Given the description of an element on the screen output the (x, y) to click on. 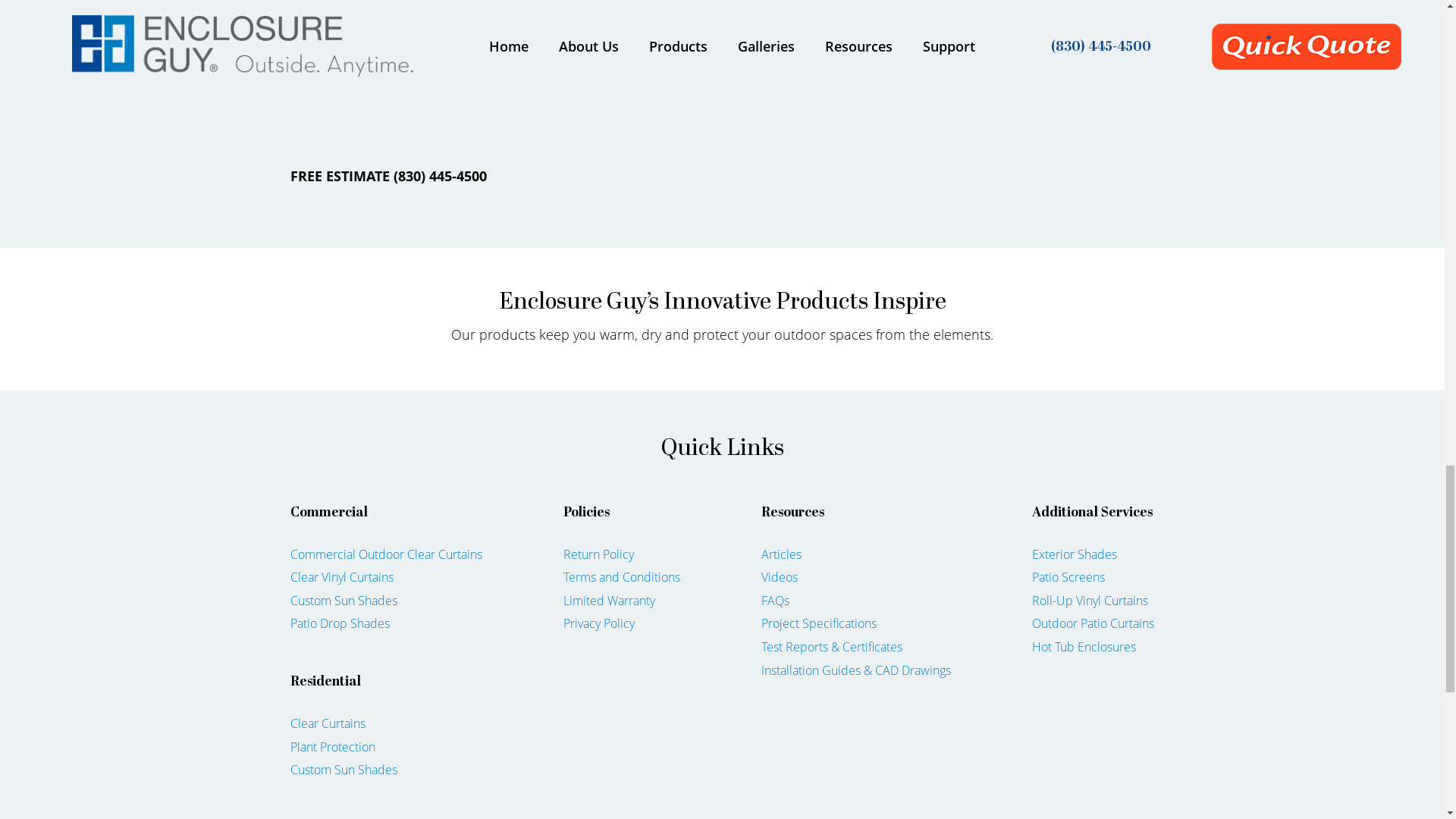
Quick Quote Button (721, 103)
